Given the description of an element on the screen output the (x, y) to click on. 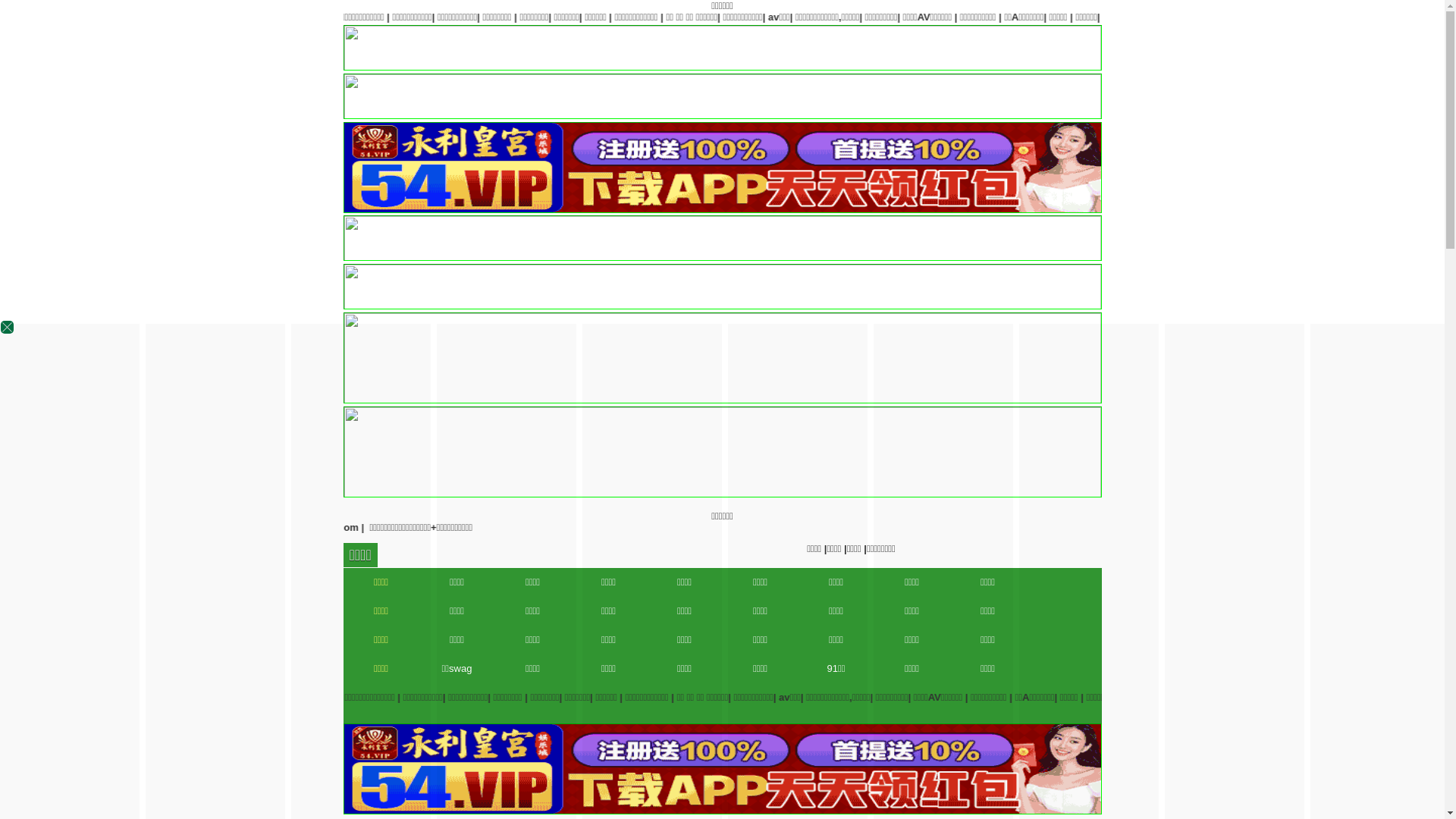
www.hehui888.com Element type: text (1351, 527)
| Element type: text (810, 16)
| Element type: text (1373, 16)
| Element type: text (749, 696)
| Element type: text (1196, 16)
| Element type: text (936, 696)
| Element type: text (999, 16)
| Element type: text (960, 16)
| Element type: text (1154, 16)
| Element type: text (874, 16)
| Element type: text (1337, 16)
| Element type: text (835, 696)
| Element type: text (1071, 696)
| Element type: text (684, 696)
| Element type: text (710, 696)
| Element type: text (920, 16)
| Element type: text (983, 696)
| Element type: text (834, 16)
www.i0534.com Element type: text (1077, 527)
| Element type: text (1107, 16)
| Element type: text (795, 696)
| Element type: text (1061, 16)
| Element type: text (1245, 16)
| Element type: text (875, 696)
| Element type: text (1029, 696)
www.swszl.com Element type: text (1163, 527)
| Element type: text (1428, 16)
| Element type: text (1303, 16)
www.gxht168.com Element type: text (1252, 527)
